Given the description of an element on the screen output the (x, y) to click on. 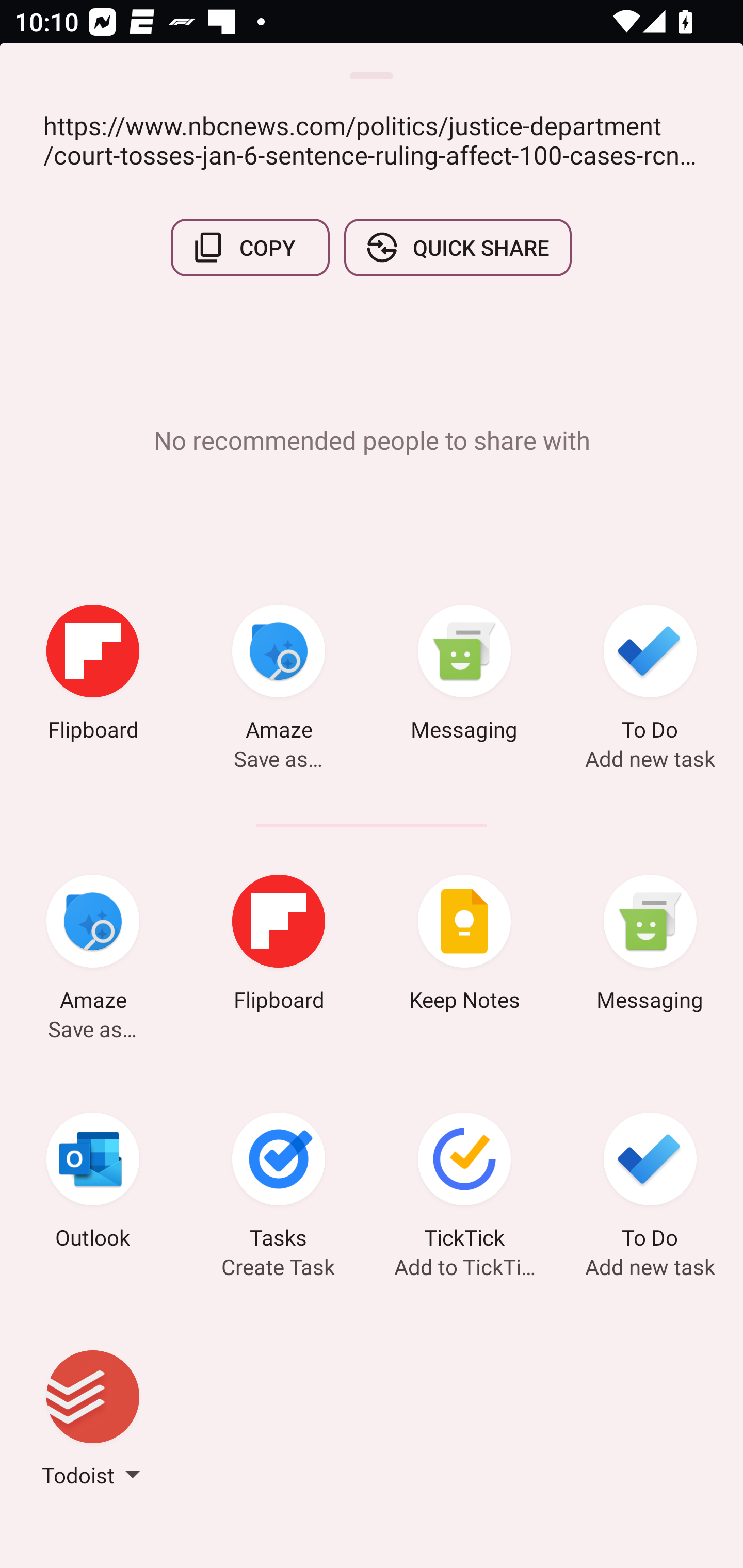
COPY (249, 247)
QUICK SHARE (457, 247)
Flipboard (92, 675)
Amaze Save as… (278, 675)
Messaging (464, 675)
To Do Add new task (650, 675)
Amaze Save as… (92, 945)
Flipboard (278, 945)
Keep Notes (464, 945)
Messaging (650, 945)
Outlook (92, 1183)
Tasks Create Task (278, 1183)
TickTick Add to TickTick (464, 1183)
To Do Add new task (650, 1183)
Todoist (92, 1422)
